Given the description of an element on the screen output the (x, y) to click on. 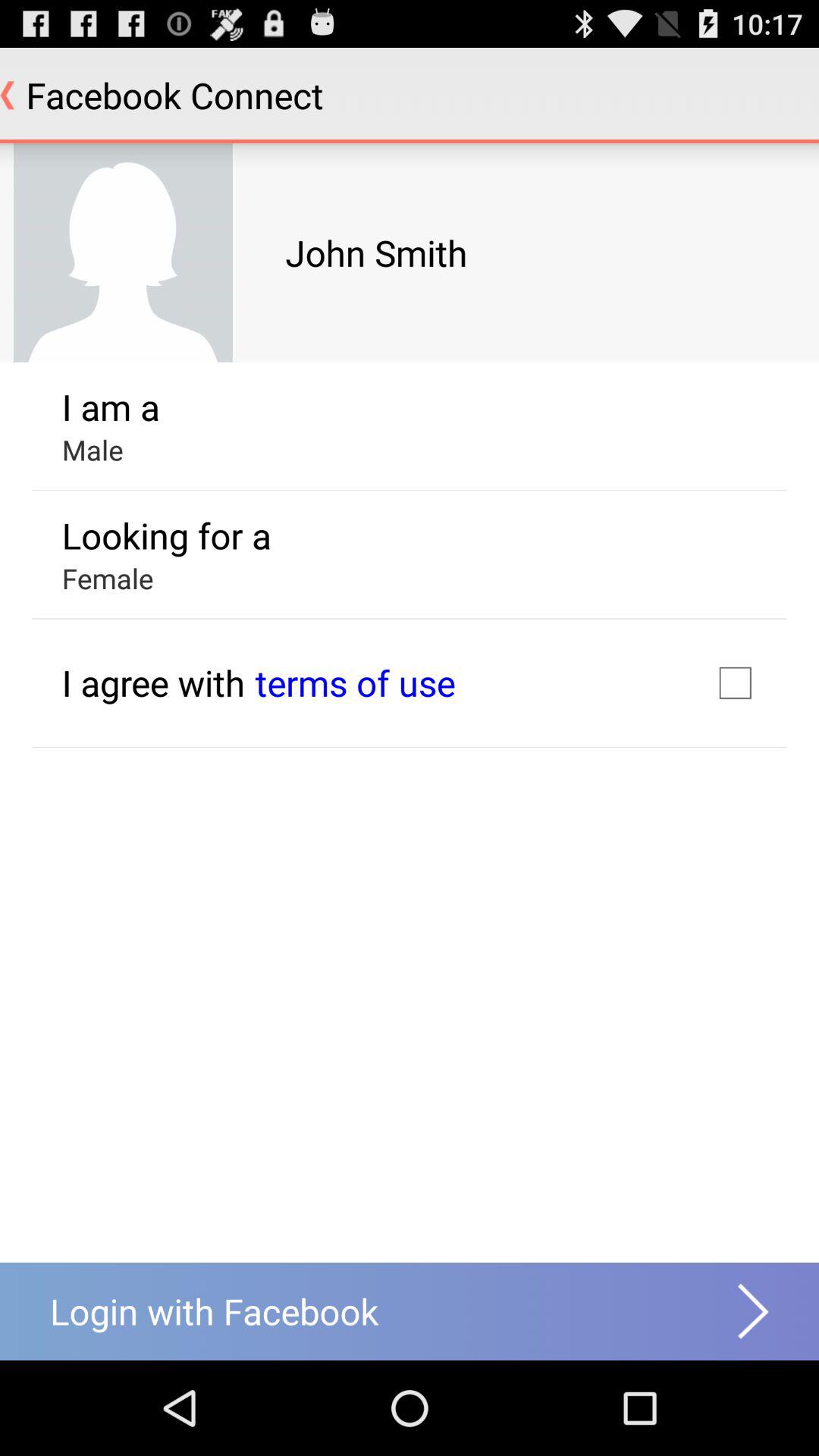
jump until female item (107, 578)
